Given the description of an element on the screen output the (x, y) to click on. 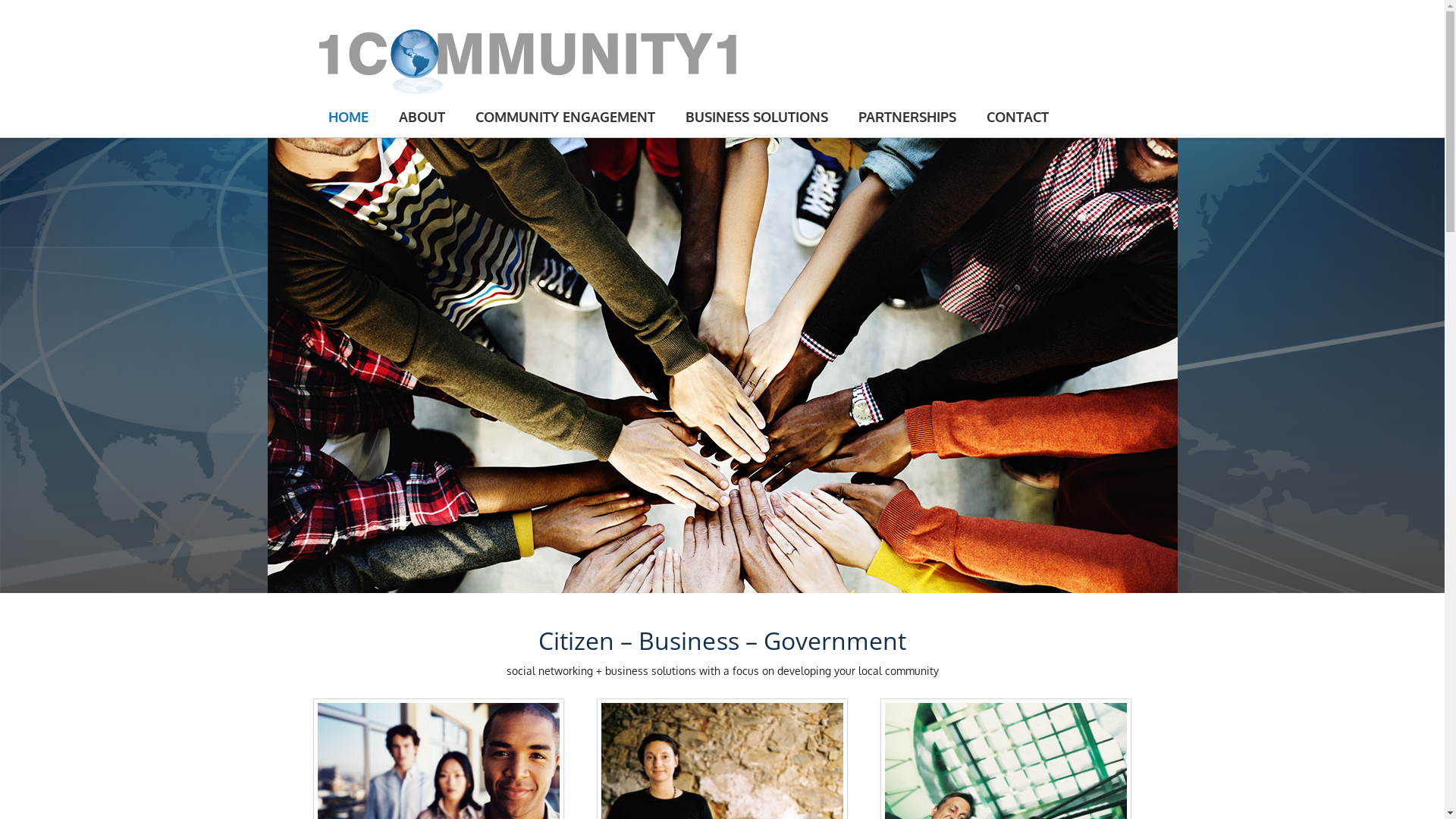
HOME Element type: text (347, 117)
PARTNERSHIPS Element type: text (907, 117)
BUSINESS SOLUTIONS Element type: text (756, 117)
ABOUT Element type: text (421, 117)
CONTACT Element type: text (1016, 117)
COMMUNITY ENGAGEMENT Element type: text (564, 117)
